Given the description of an element on the screen output the (x, y) to click on. 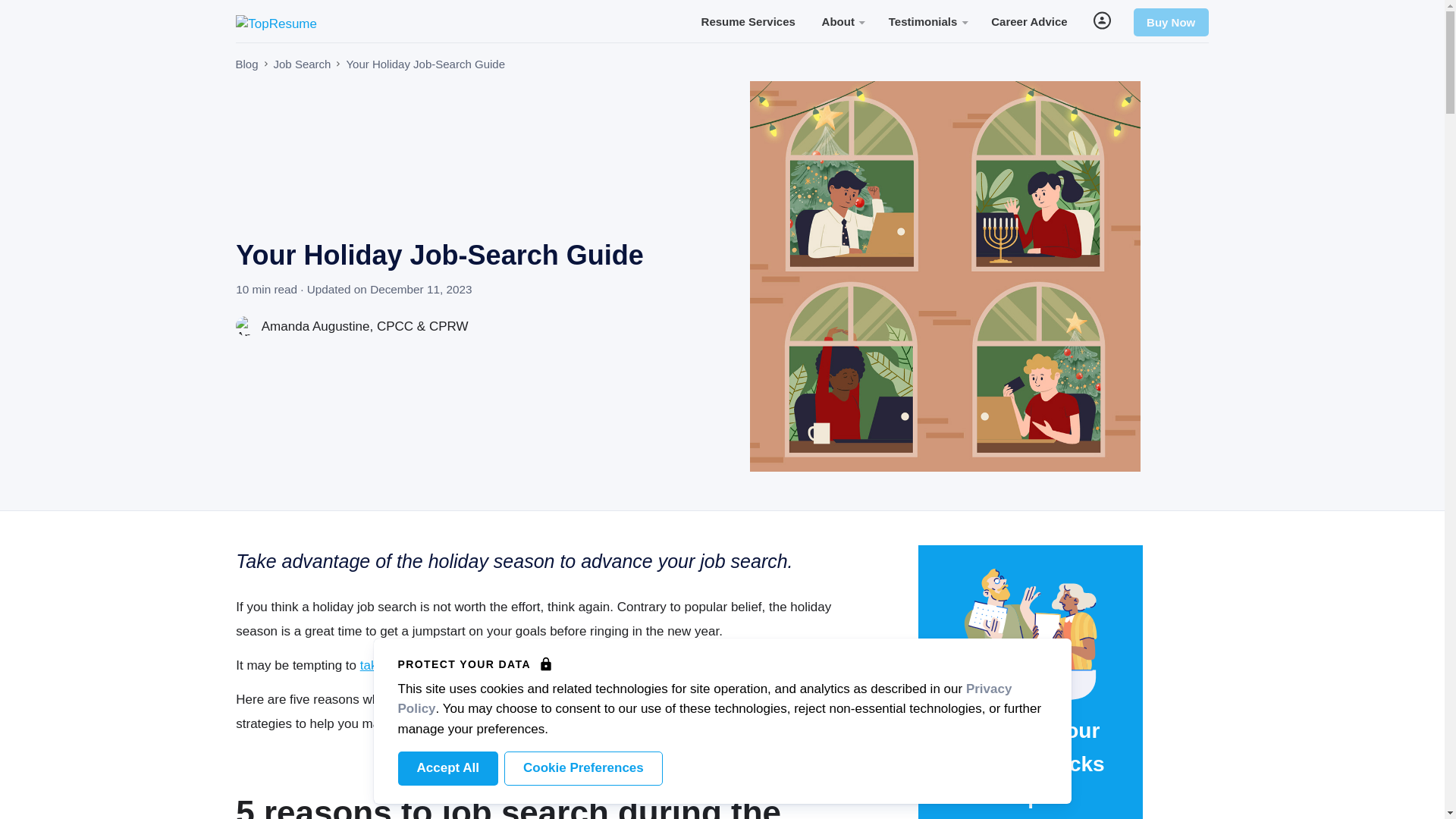
Buy Now (1171, 22)
Blog (245, 63)
Privacy Policy (704, 698)
Accept All (447, 768)
About (841, 20)
Testimonials (926, 20)
take a break during the job search (456, 665)
Job Search (302, 63)
Career Advice (1028, 20)
Resume Services (748, 20)
